Given the description of an element on the screen output the (x, y) to click on. 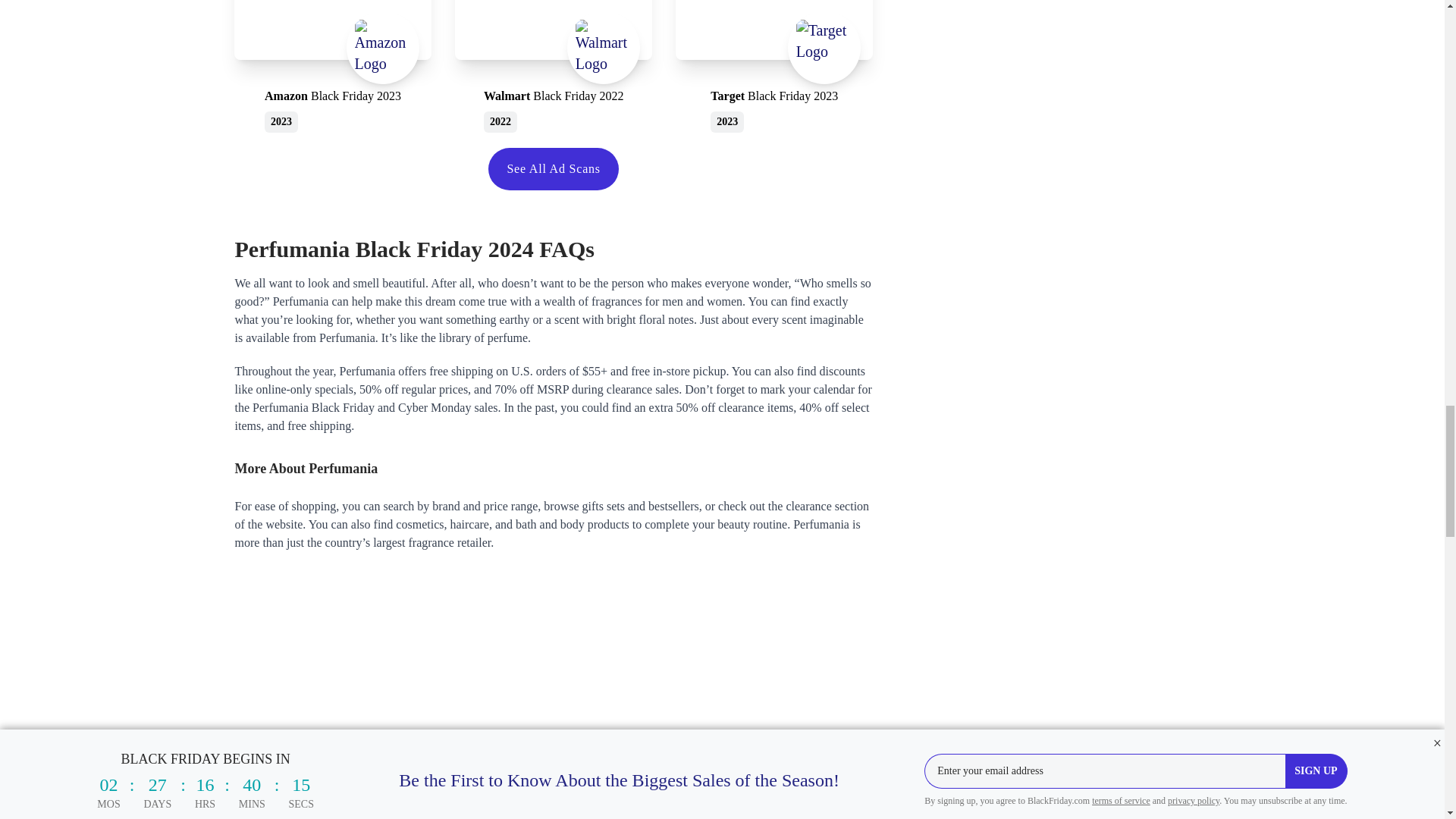
Walmart Black Friday 2022 (553, 109)
Target Black Friday 2023 (774, 109)
Amazon Black Friday 2023 (332, 42)
Walmart Black Friday 2022 (553, 42)
Target Black Friday 2023 (773, 42)
Amazon Black Friday 2023 (332, 109)
